Given the description of an element on the screen output the (x, y) to click on. 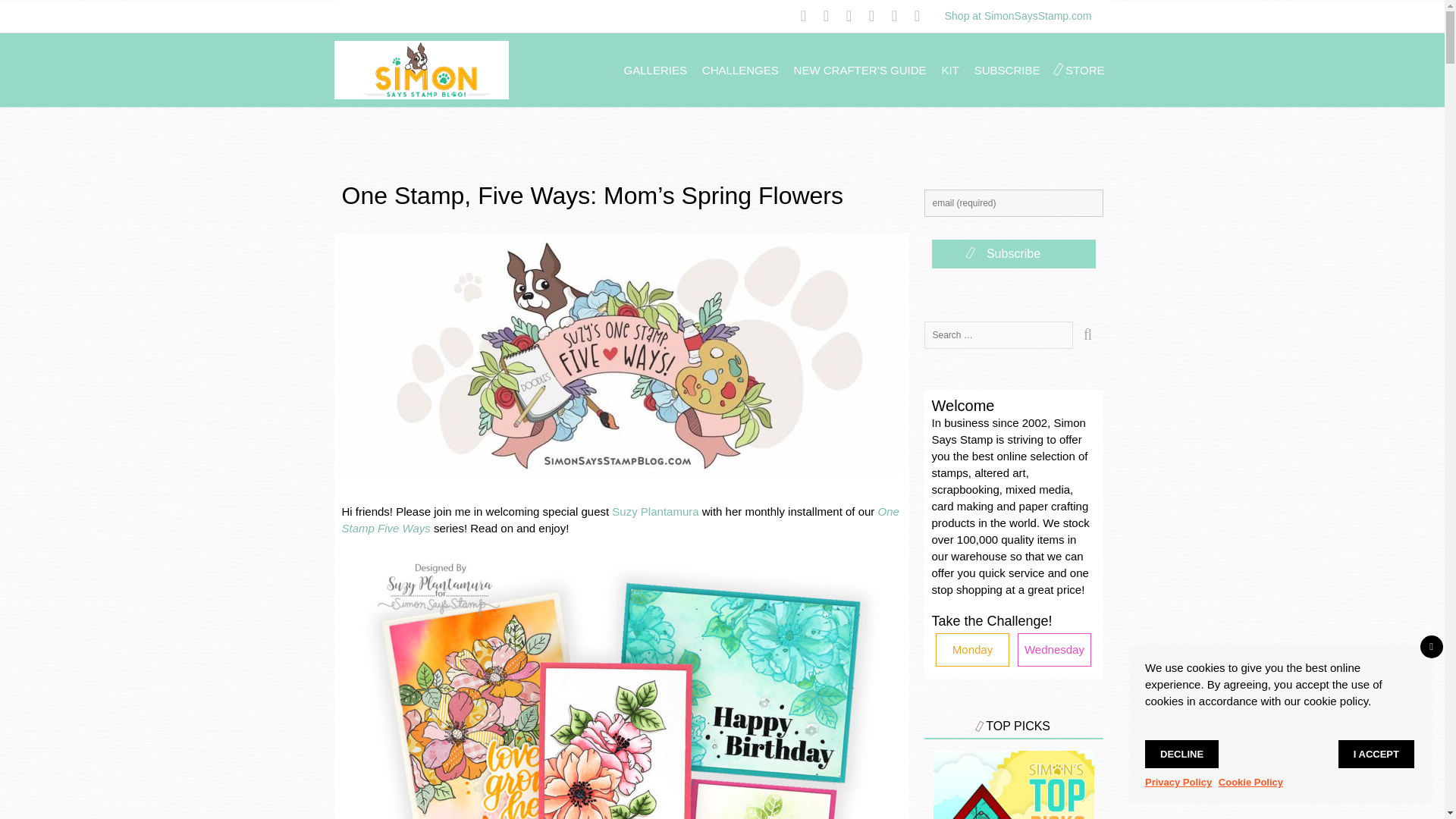
youtube (876, 16)
One Stamp Five Ways (619, 519)
Search (1086, 334)
facebook (807, 16)
flickr (922, 16)
Suzy Plantamura (654, 511)
GALLERIES (655, 69)
Subscribe (1012, 253)
twitter (853, 16)
CHALLENGES (739, 69)
STORE (1084, 69)
pinterest (831, 16)
Shop at SimonSaysStamp.com (1018, 15)
Search (1086, 334)
instagram (899, 16)
